Given the description of an element on the screen output the (x, y) to click on. 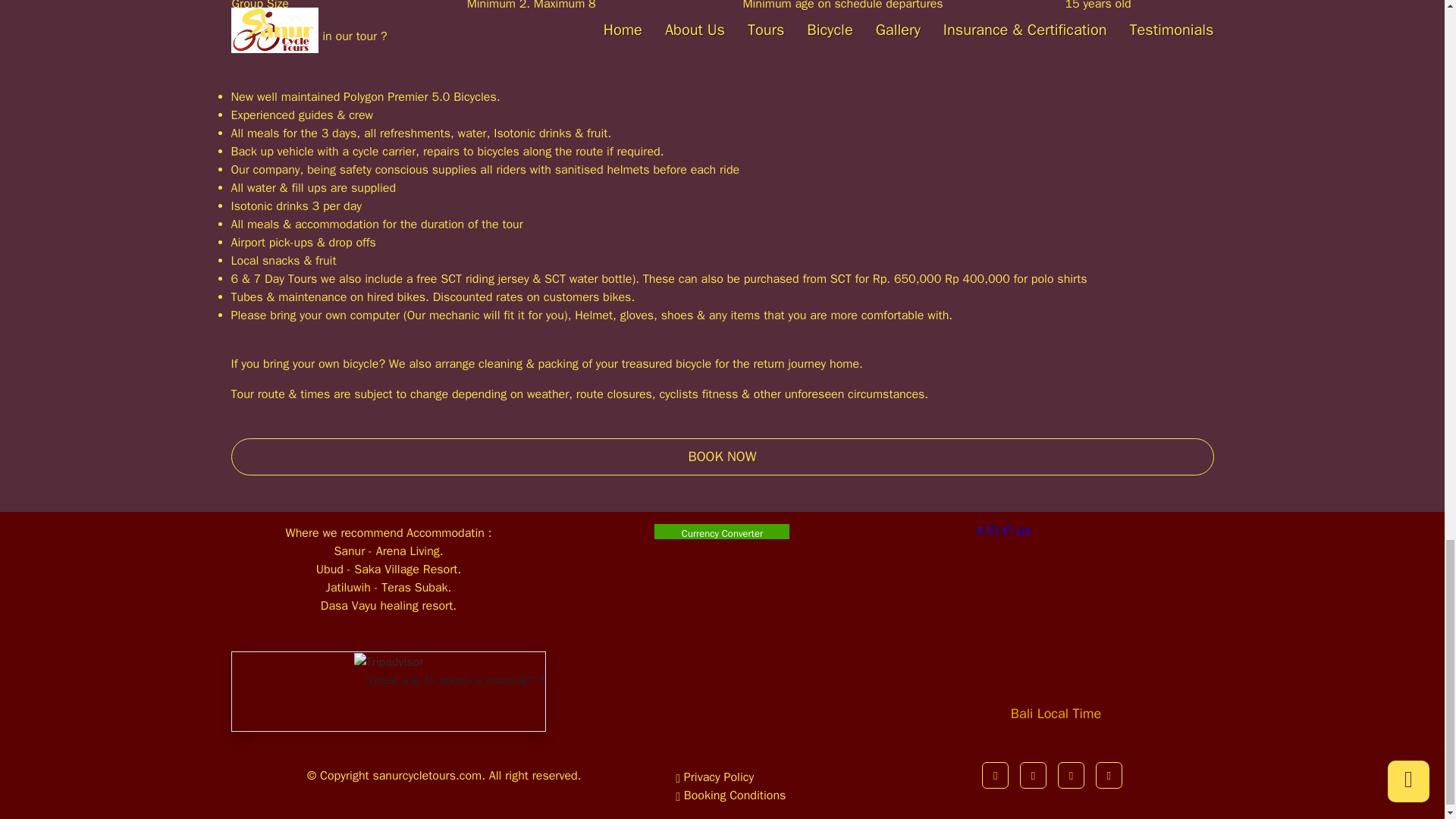
Ubud - Saka Village Resort. (388, 569)
Sanur - Arena Living. (387, 550)
BOOK NOW (721, 456)
Jatiluwih - Teras Subak. (388, 587)
